Given the description of an element on the screen output the (x, y) to click on. 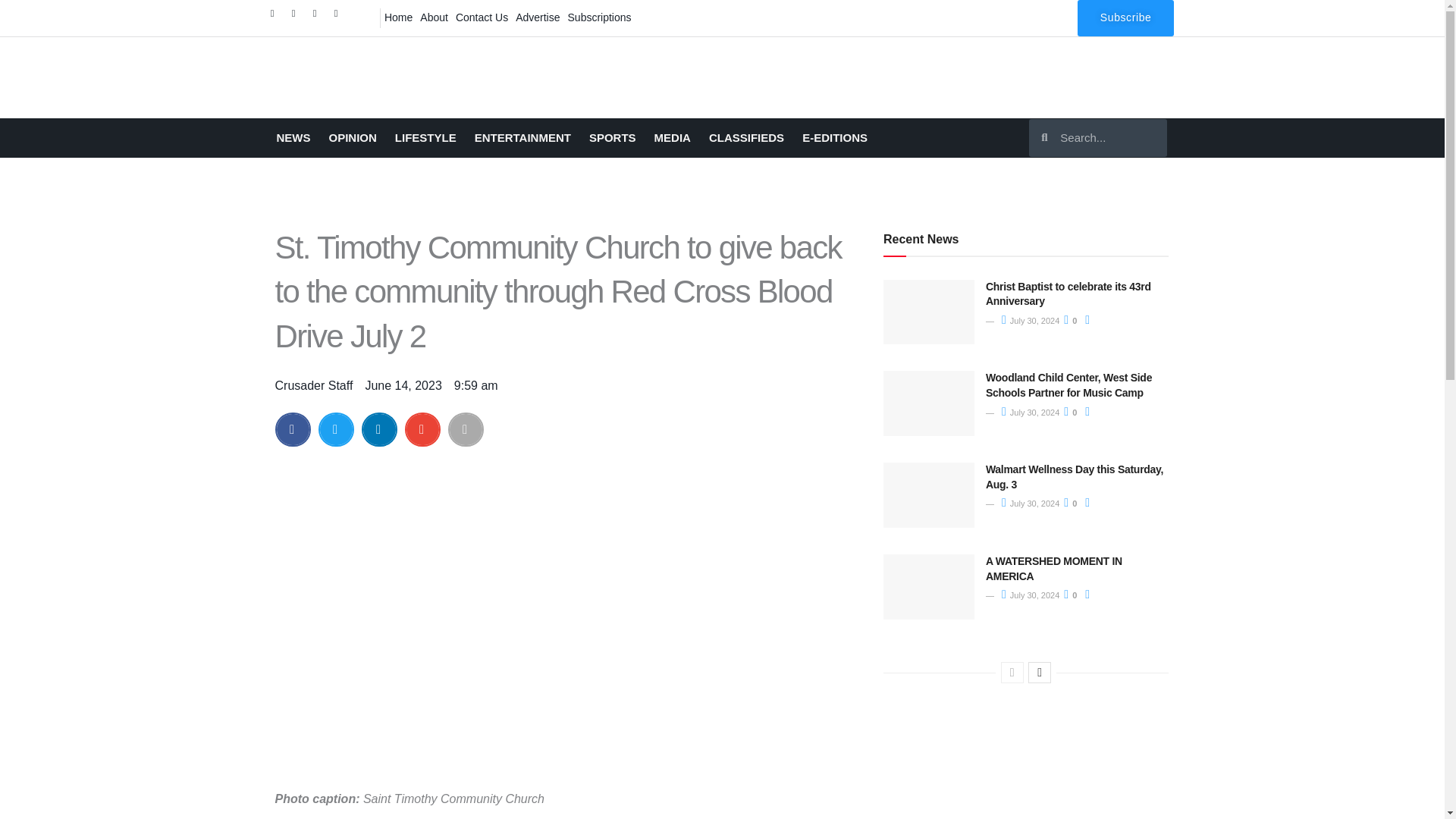
Youtube (340, 17)
Previous (1012, 672)
Contact Us (481, 17)
Twitter (297, 17)
Facebook-f (276, 17)
Subscribe (1125, 18)
NEWS (292, 137)
Advertise (537, 17)
Home (398, 17)
Subscriptions (599, 17)
